Given the description of an element on the screen output the (x, y) to click on. 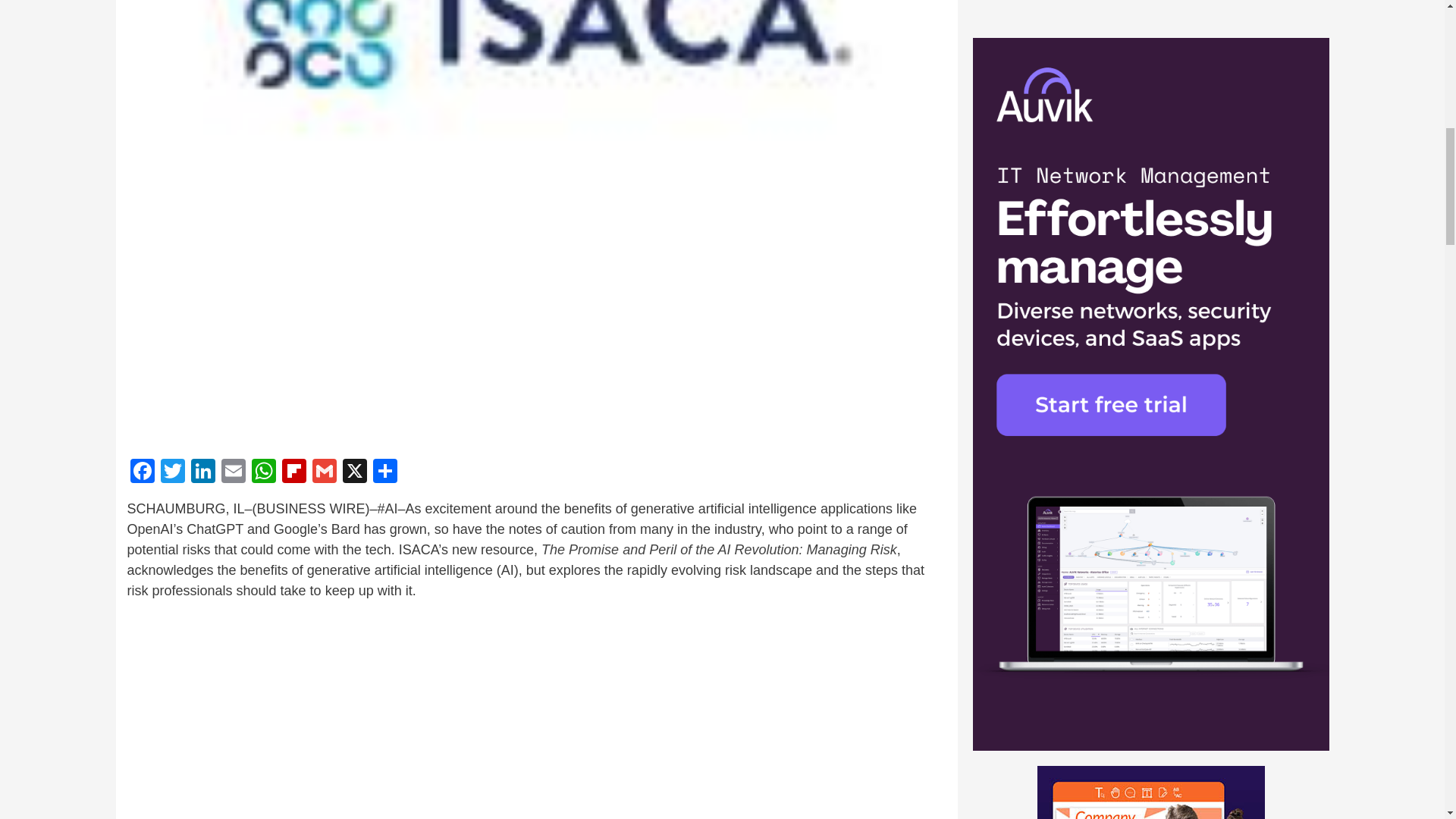
X (354, 472)
Facebook (142, 472)
Share (384, 472)
WhatsApp (263, 472)
WhatsApp (263, 472)
Twitter (172, 472)
Flipboard (293, 472)
Gmail (323, 472)
X (354, 472)
LinkedIn (202, 472)
The Promise and Peril of the AI Revolution: Managing Risk (718, 549)
Facebook (142, 472)
Gmail (323, 472)
Email (233, 472)
Email (233, 472)
